Given the description of an element on the screen output the (x, y) to click on. 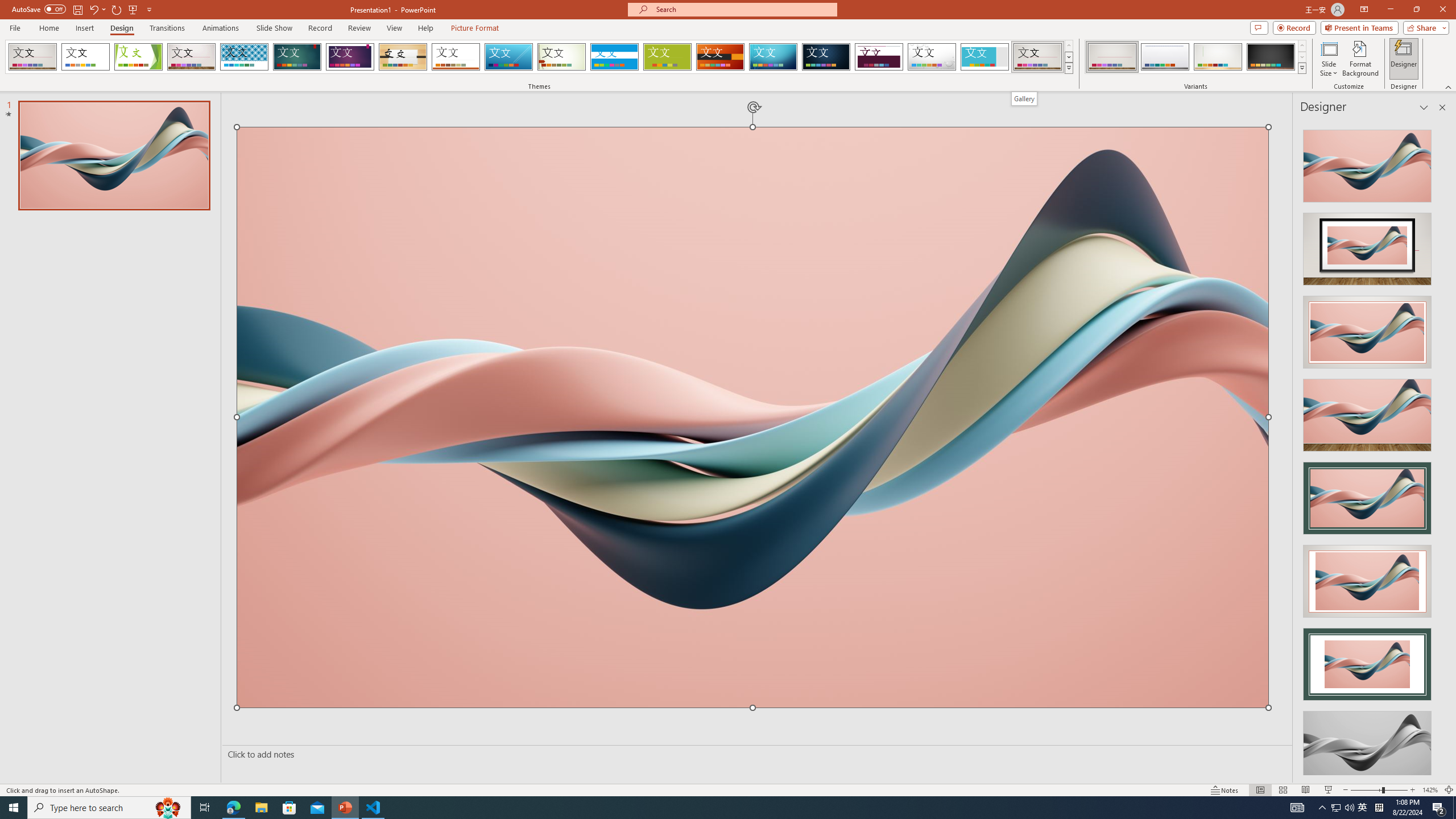
Banded (614, 56)
Ion Boardroom (350, 56)
Ion (296, 56)
AfterglowVTI (32, 56)
Wavy 3D art (752, 417)
